Given the description of an element on the screen output the (x, y) to click on. 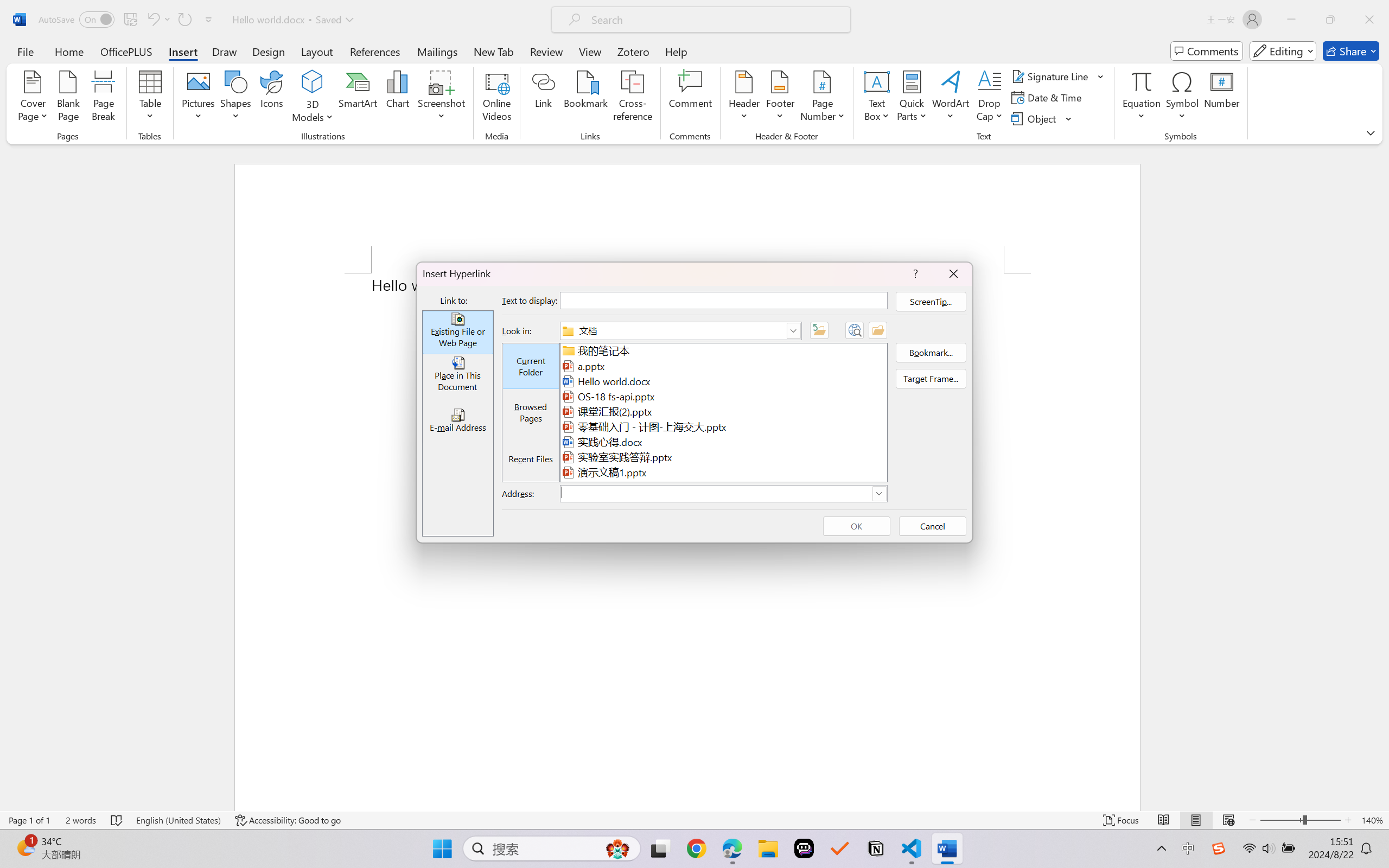
Blank Page (67, 97)
3D Models (312, 81)
Restore Down (1330, 19)
Equation (1141, 97)
Comment (689, 97)
Zoom Out (1280, 819)
Save (130, 19)
More Options (1141, 112)
Recent Files (530, 458)
Customize Quick Access Toolbar (208, 19)
